Given the description of an element on the screen output the (x, y) to click on. 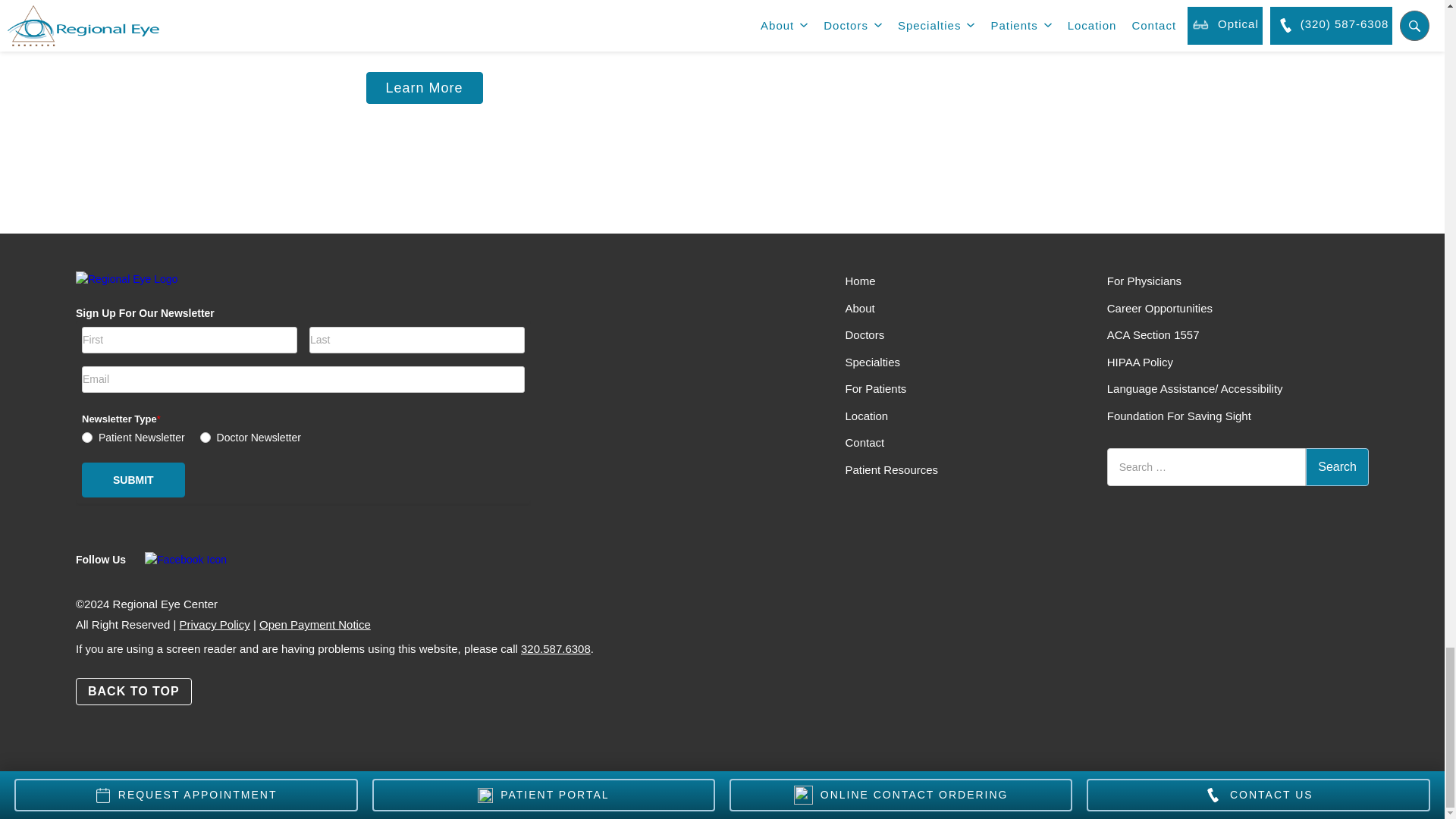
Click For the Homepage (169, 287)
Search for: (1206, 466)
Search (1337, 466)
Search (1337, 466)
